Given the description of an element on the screen output the (x, y) to click on. 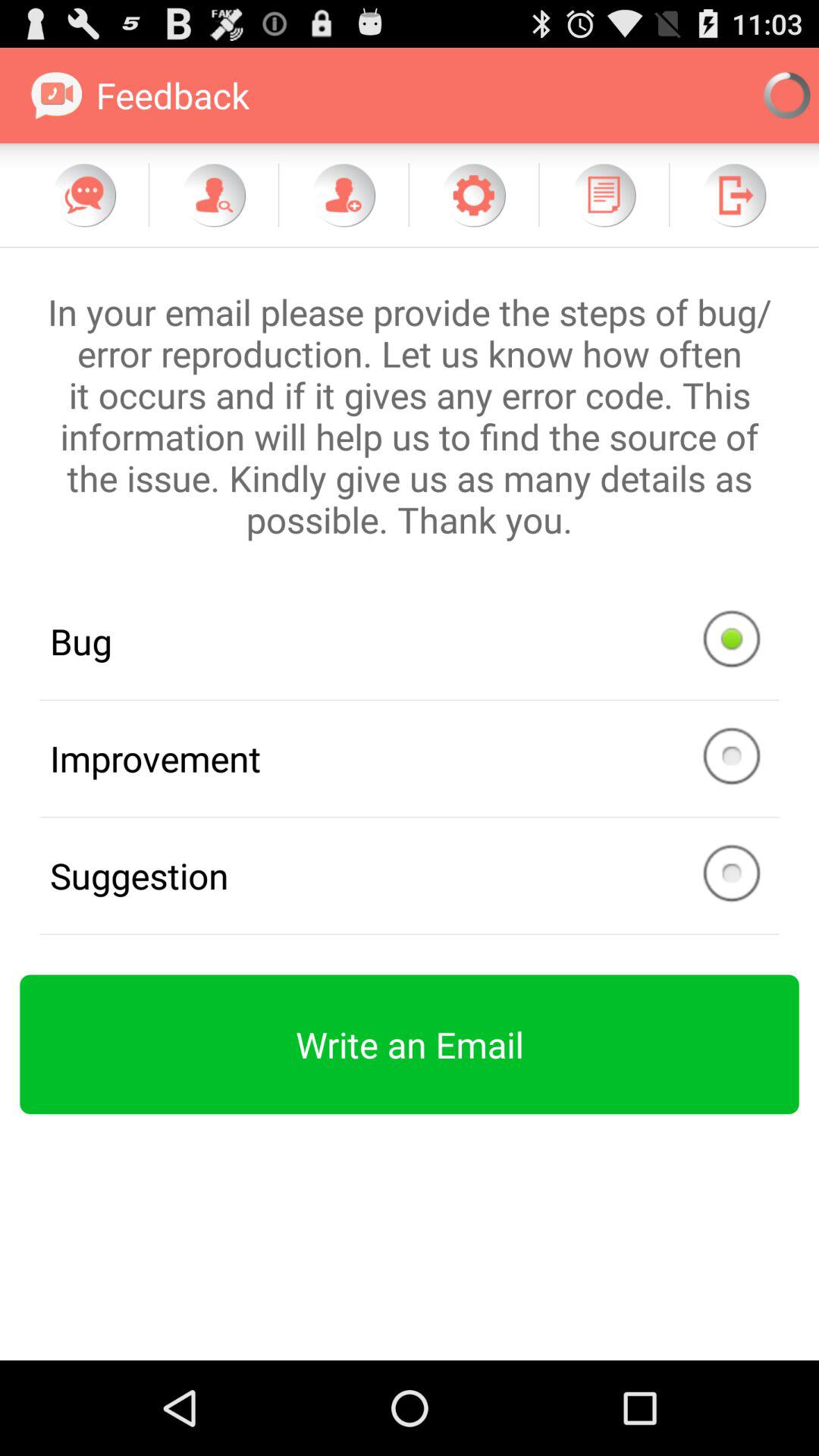
turn on radio button above the suggestion (409, 758)
